Given the description of an element on the screen output the (x, y) to click on. 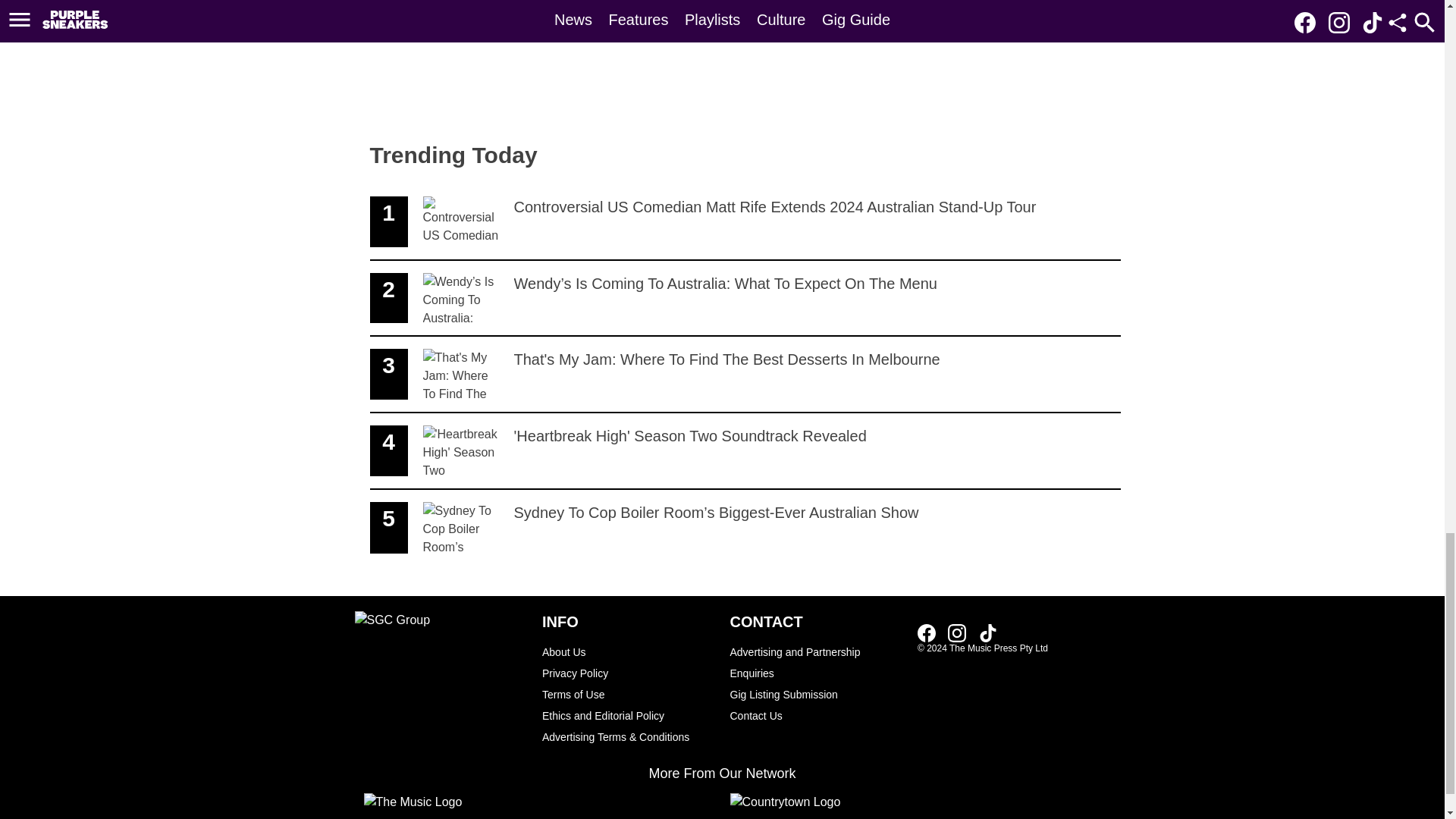
Link to our Instagram (961, 631)
Contact Us (815, 715)
Terms of Use (627, 694)
Gig Listing Submission (815, 694)
About Us (627, 651)
Link to our TikTok (745, 451)
Link to our Facebook (987, 633)
Ethics and Editorial Policy (930, 631)
Link to our Facebook (627, 715)
Link to our TikTok (926, 633)
Advertising and Partnership Enquiries (987, 631)
Privacy Policy (815, 662)
